Given the description of an element on the screen output the (x, y) to click on. 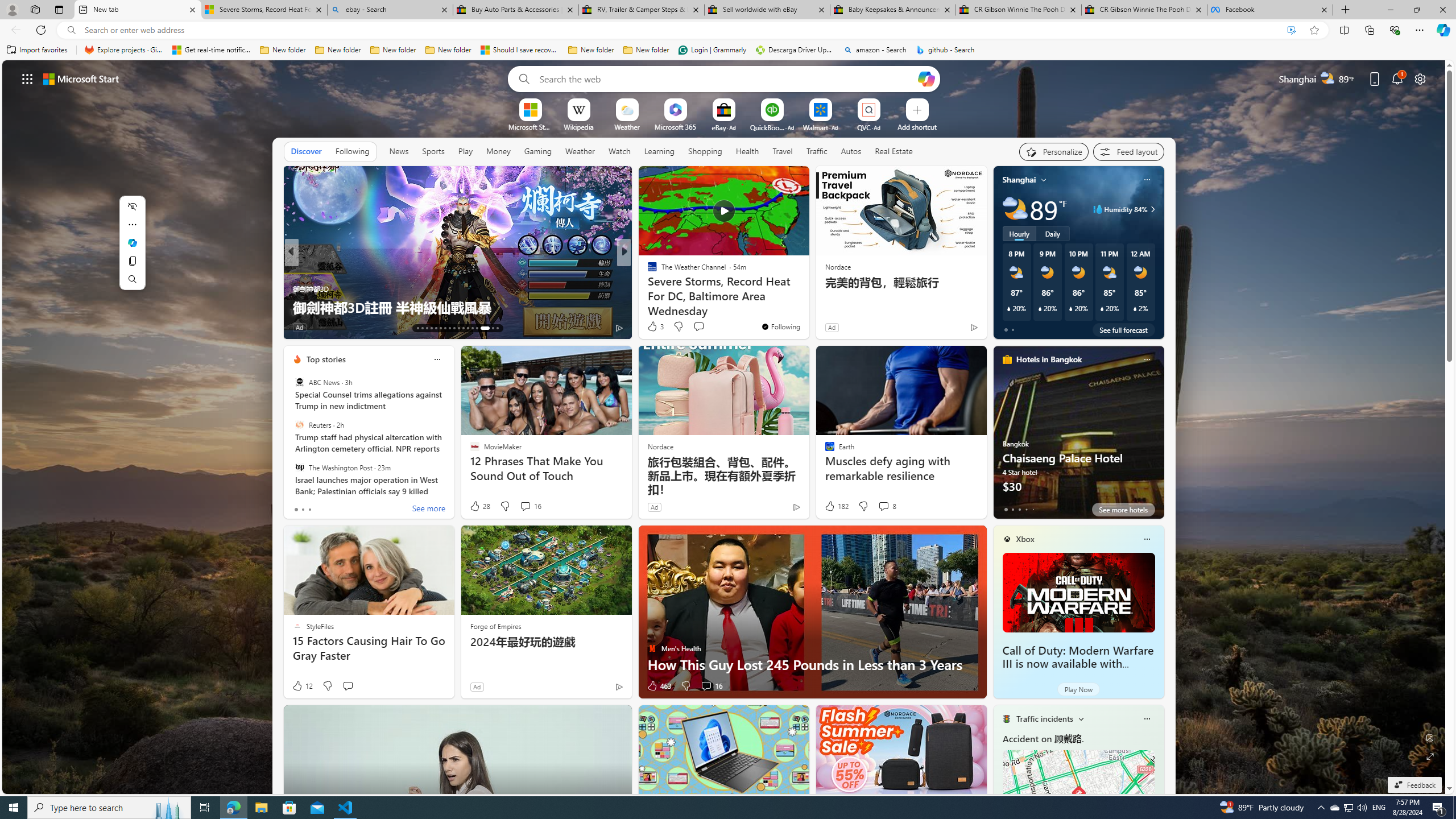
Close (1442, 9)
AutomationID: tab-26 (476, 328)
Traffic Title Traffic Light (1005, 718)
Page settings (1420, 78)
Travel (782, 151)
Real Estate (893, 151)
AutomationID: tab-29 (497, 328)
News (398, 151)
Weather (579, 151)
Open Copilot (926, 78)
Shopping (705, 151)
Traffic incidents (1044, 718)
The History of the Windows Start Menu (457, 307)
Discover (306, 151)
